Given the description of an element on the screen output the (x, y) to click on. 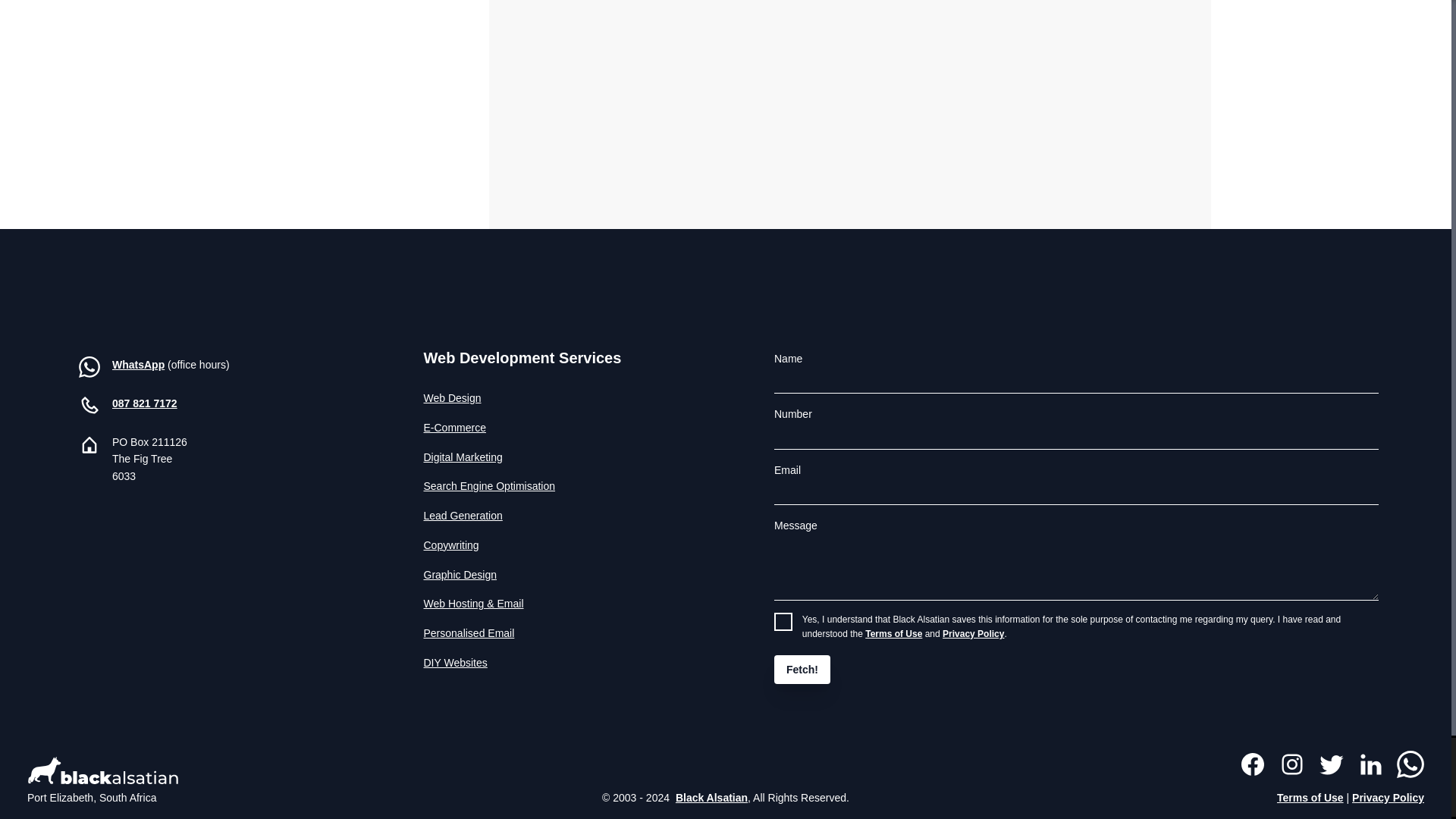
on (783, 621)
DIY Websites (574, 668)
WhatsApp Us (89, 373)
Privacy Policy (973, 633)
DIY Websites (574, 668)
Search Engine Optimisation (574, 491)
Search Engine Optimisation (574, 491)
Personalised Email (574, 639)
Graphic Design (574, 580)
Terms of Use (892, 633)
